Given the description of an element on the screen output the (x, y) to click on. 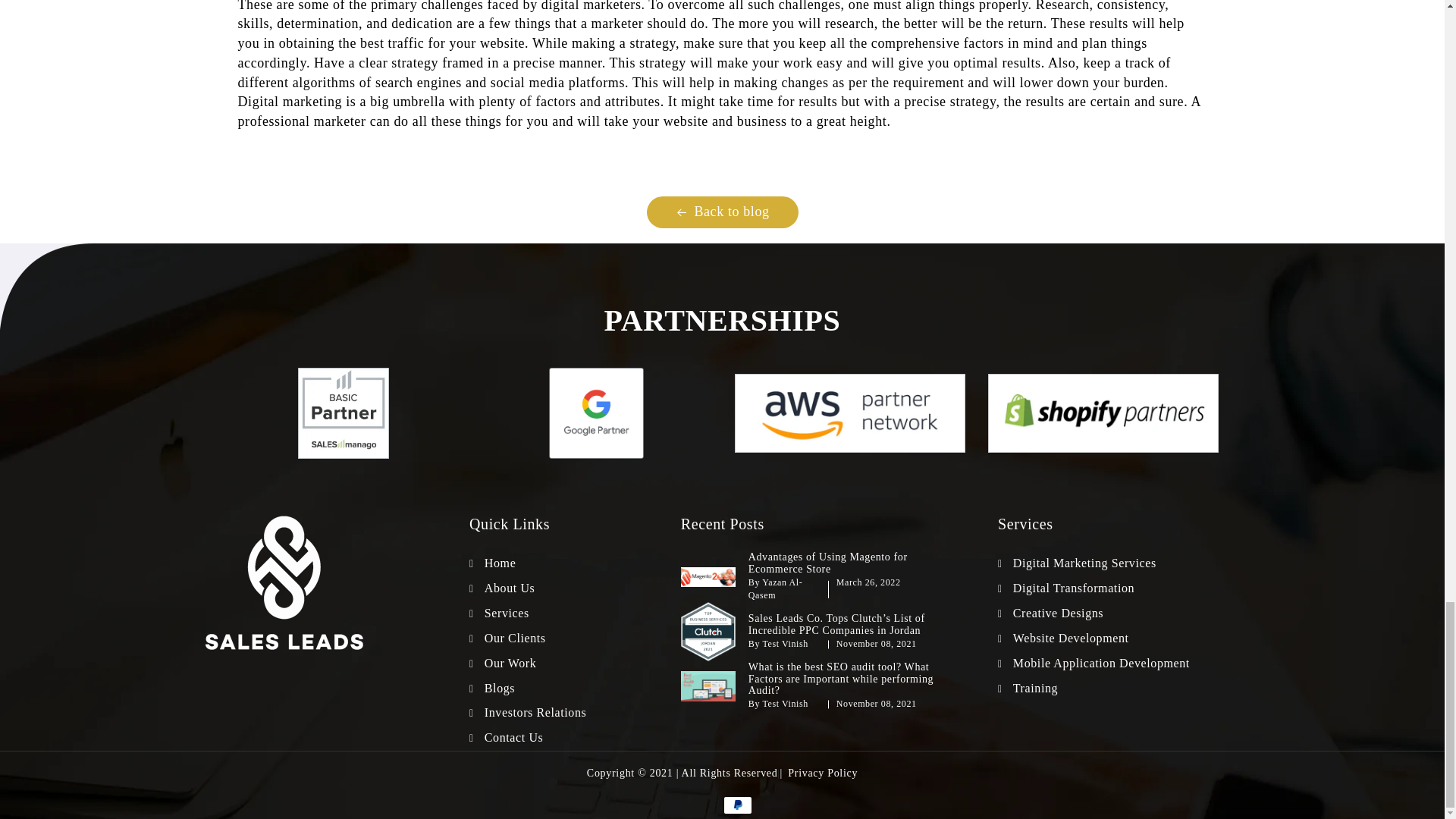
PayPal (737, 805)
